Given the description of an element on the screen output the (x, y) to click on. 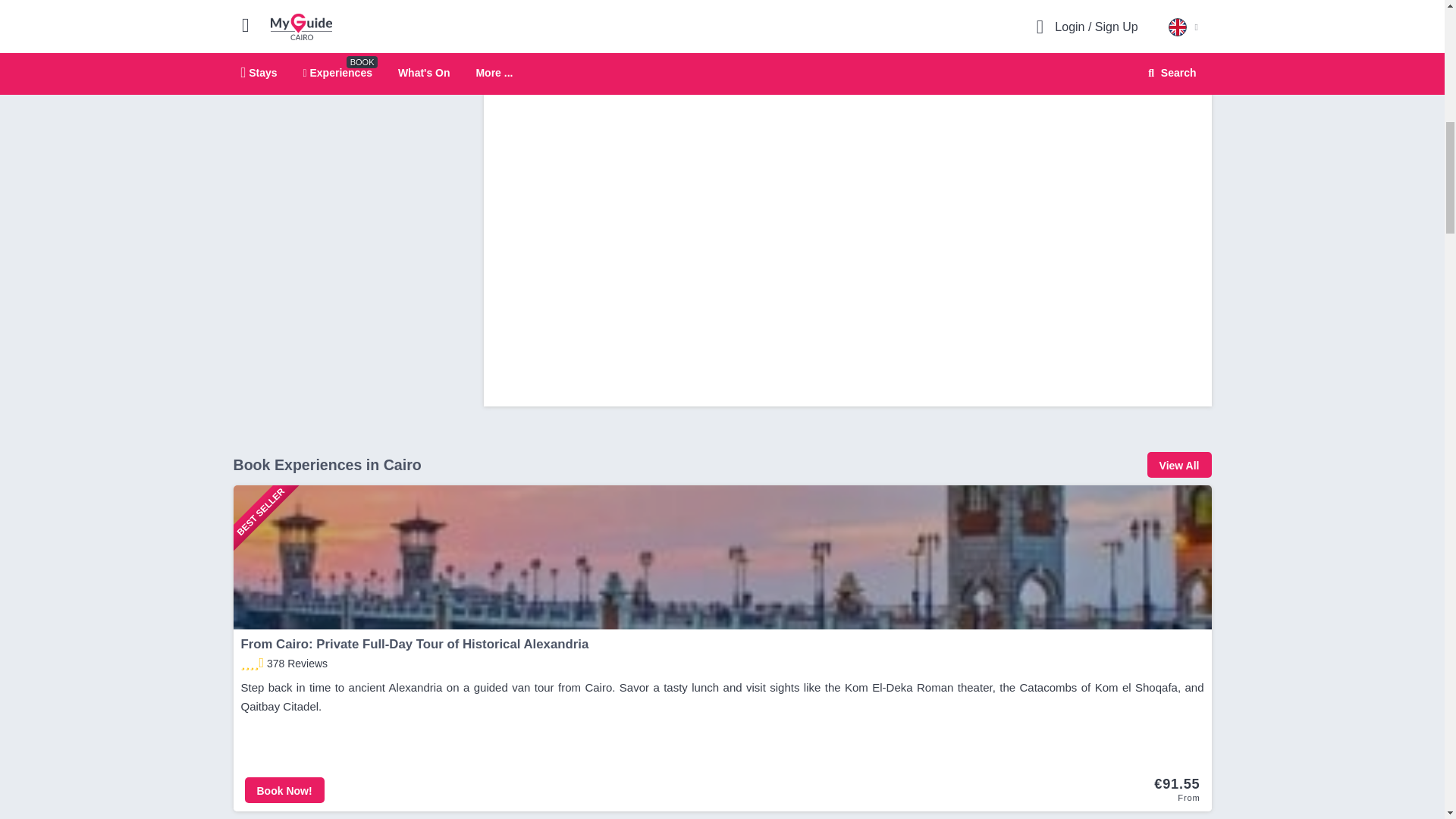
Advertisement (346, 41)
